Given the description of an element on the screen output the (x, y) to click on. 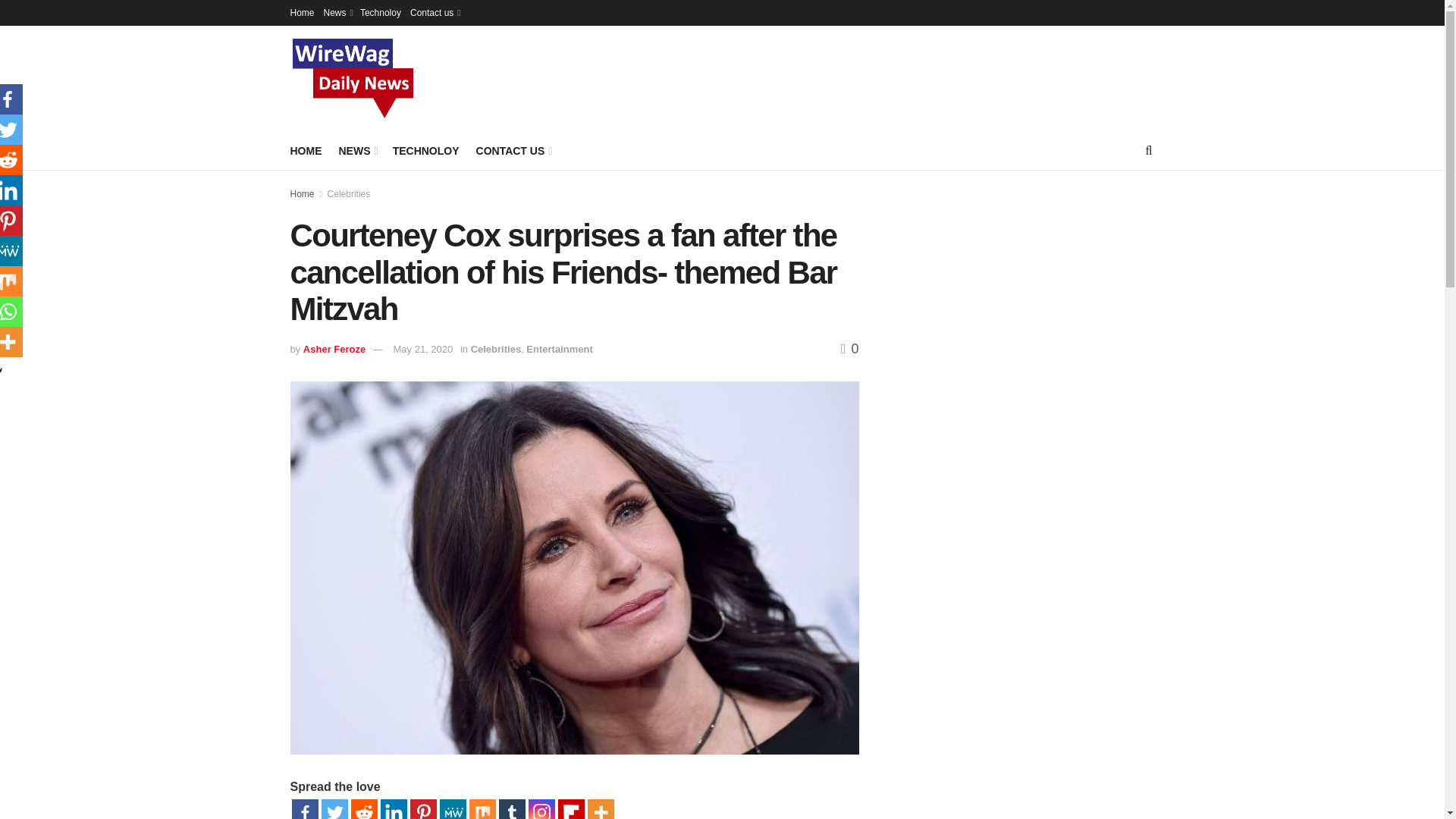
More (599, 809)
NEWS (356, 150)
Flipboard (571, 809)
Contact us (434, 12)
News (336, 12)
TECHNOLOY (426, 150)
Technoloy (380, 12)
HOME (305, 150)
CONTACT US (513, 150)
Facebook (304, 809)
Instagram (540, 809)
Tumblr (512, 809)
MeWe (452, 809)
Twitter (334, 809)
Home (301, 12)
